Given the description of an element on the screen output the (x, y) to click on. 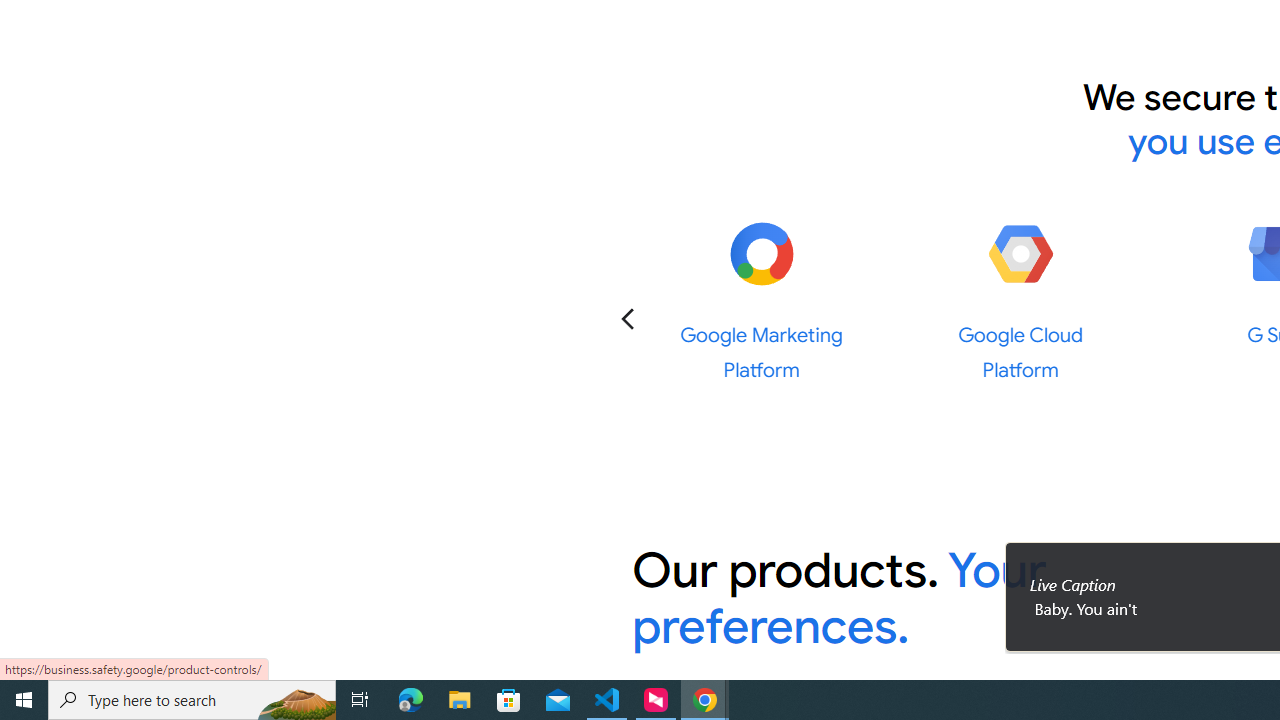
Google Marketing Platform (761, 254)
Google Cloud Platform (1020, 254)
Go to the previous slide (628, 318)
Google Cloud Platform Google Cloud Platform (1020, 300)
Google Marketing Platform Google Marketing Platform (762, 300)
